Given the description of an element on the screen output the (x, y) to click on. 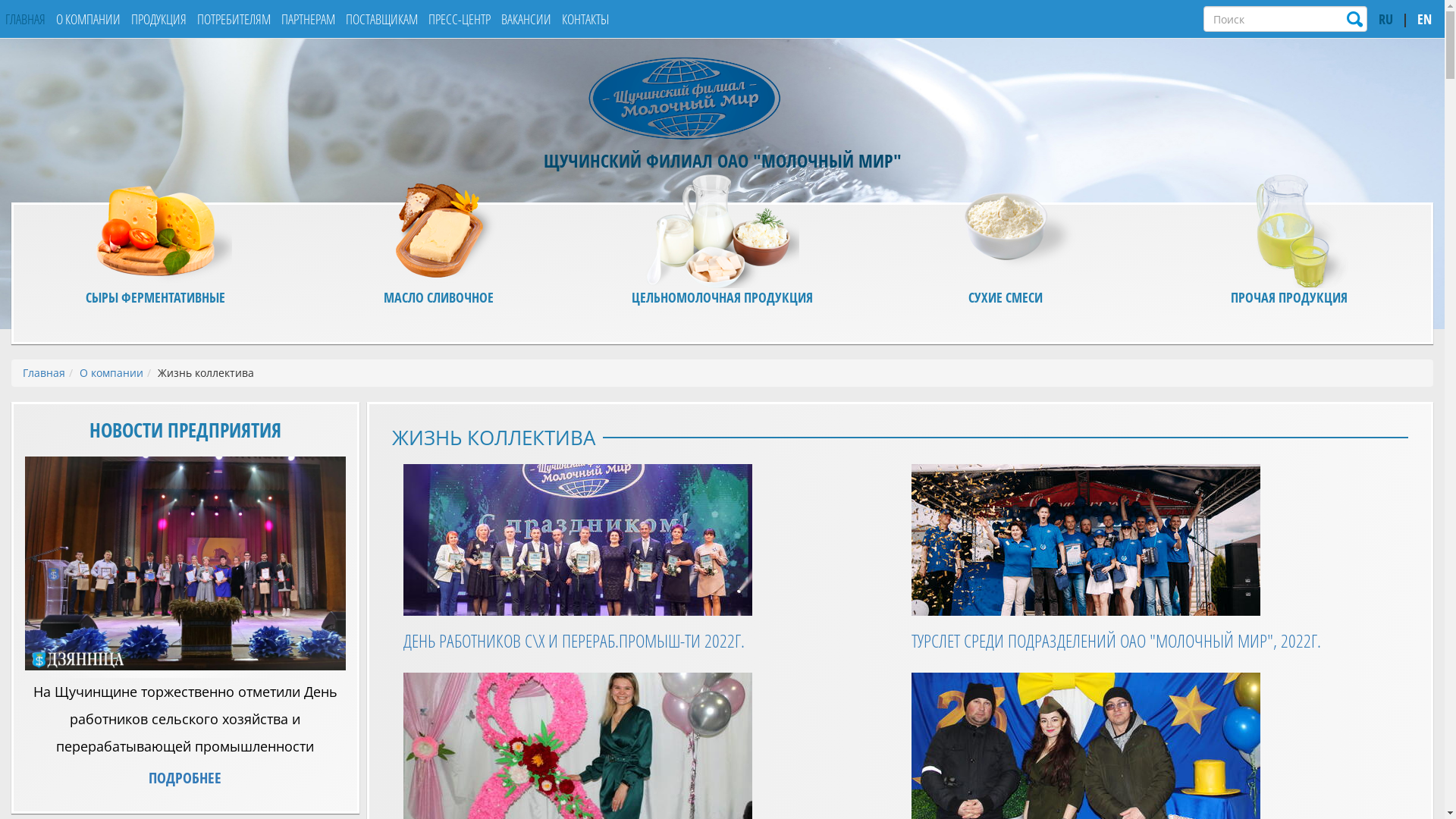
EN Element type: text (1424, 19)
RU Element type: text (1385, 19)
